Given the description of an element on the screen output the (x, y) to click on. 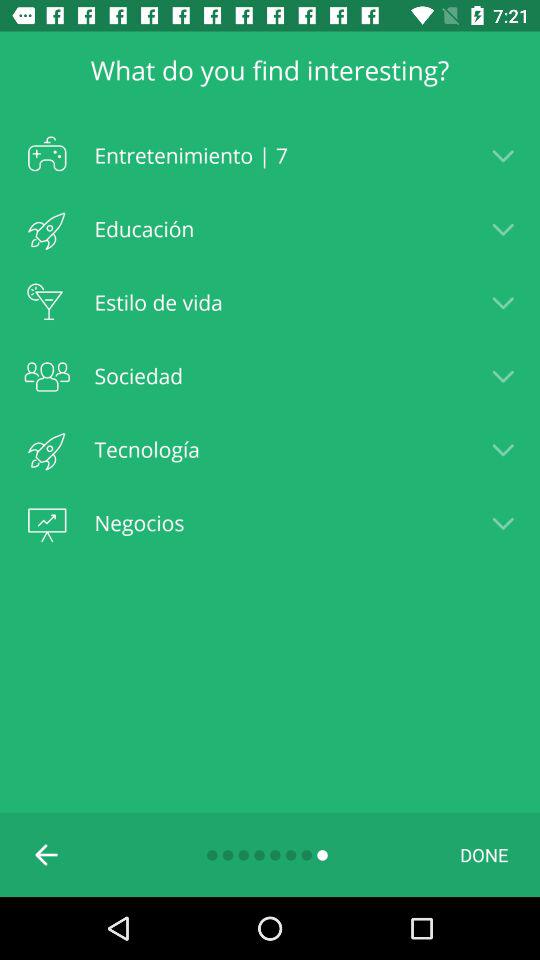
jump to done (484, 854)
